Given the description of an element on the screen output the (x, y) to click on. 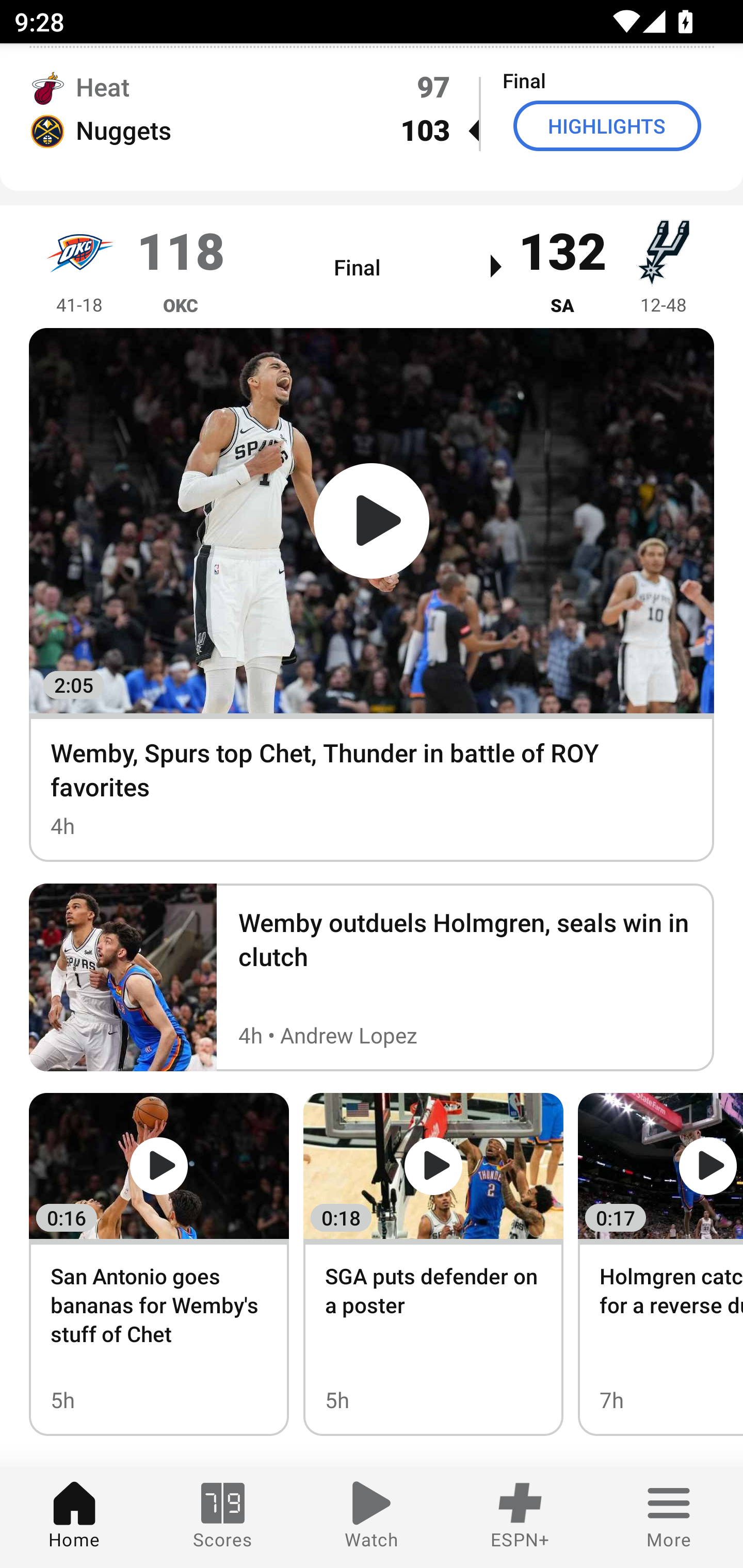
Heat 97 Final Nuggets 103  HIGHLIGHTS (371, 107)
HIGHLIGHTS (607, 125)
 0:18 SGA puts defender on a poster 5h (433, 1264)
 0:17 Holmgren catches lob for a reverse dunk 7h (660, 1264)
Scores (222, 1517)
Watch (371, 1517)
ESPN+ (519, 1517)
More (668, 1517)
